Given the description of an element on the screen output the (x, y) to click on. 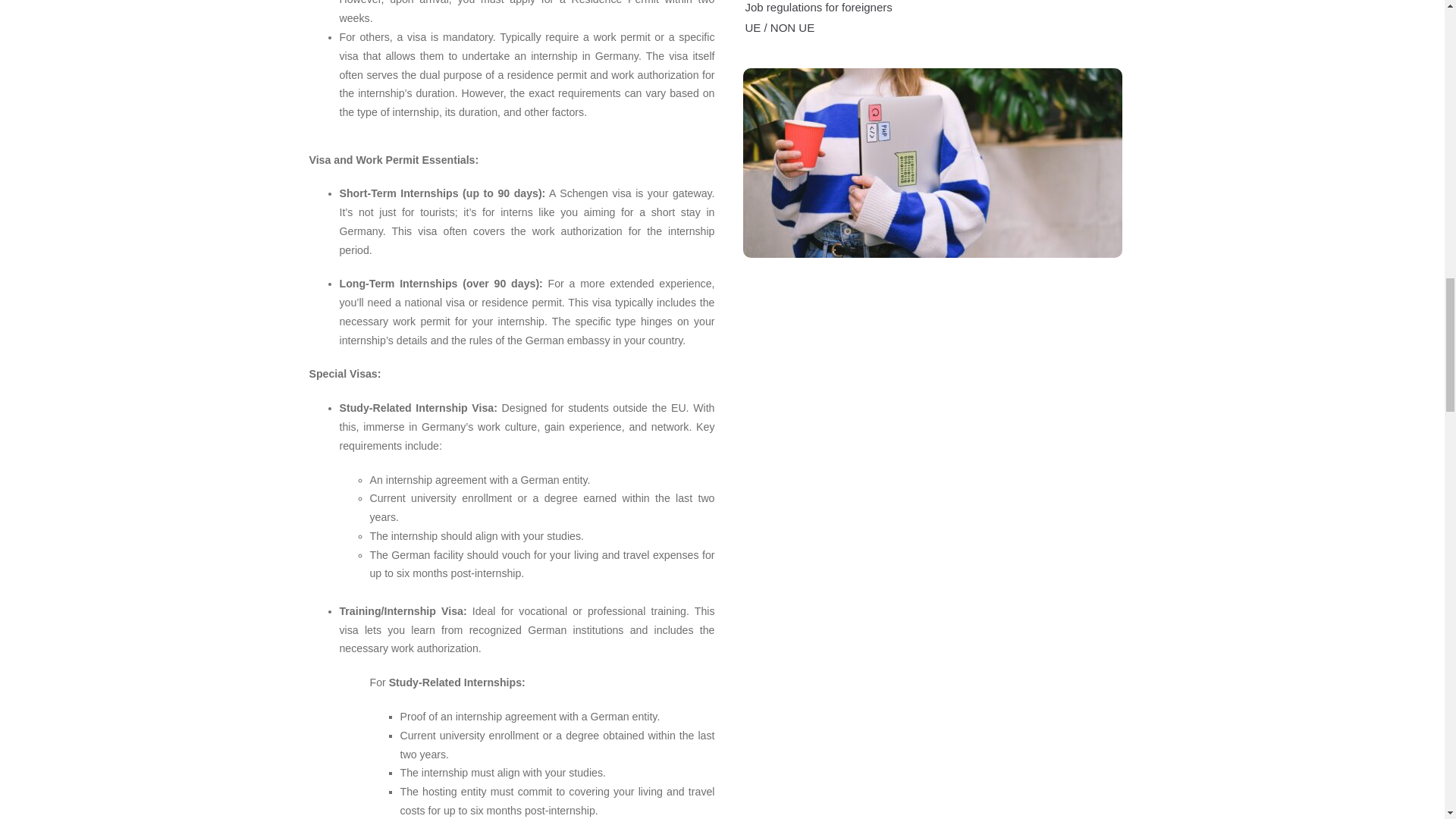
pexels-anna-shvets-12662857 (932, 162)
